Given the description of an element on the screen output the (x, y) to click on. 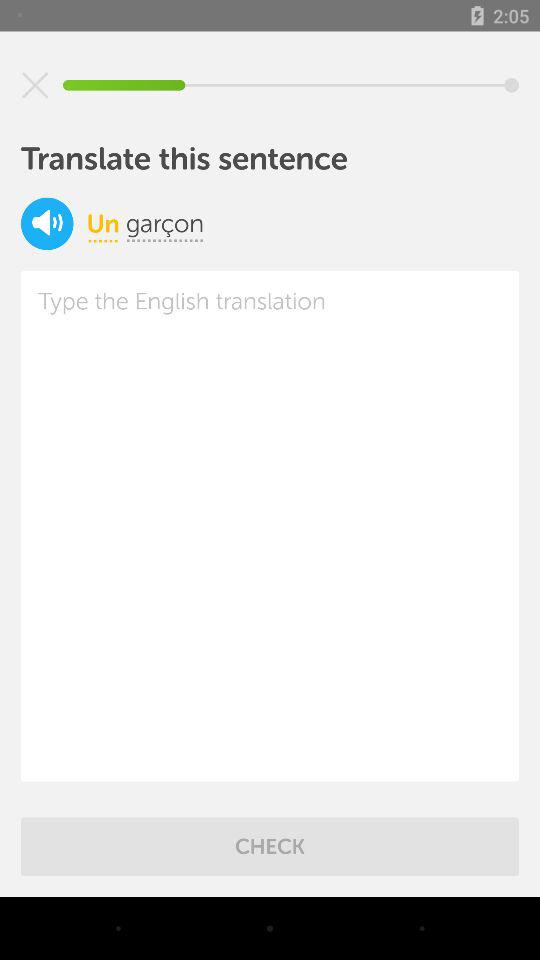
volume (47, 223)
